Given the description of an element on the screen output the (x, y) to click on. 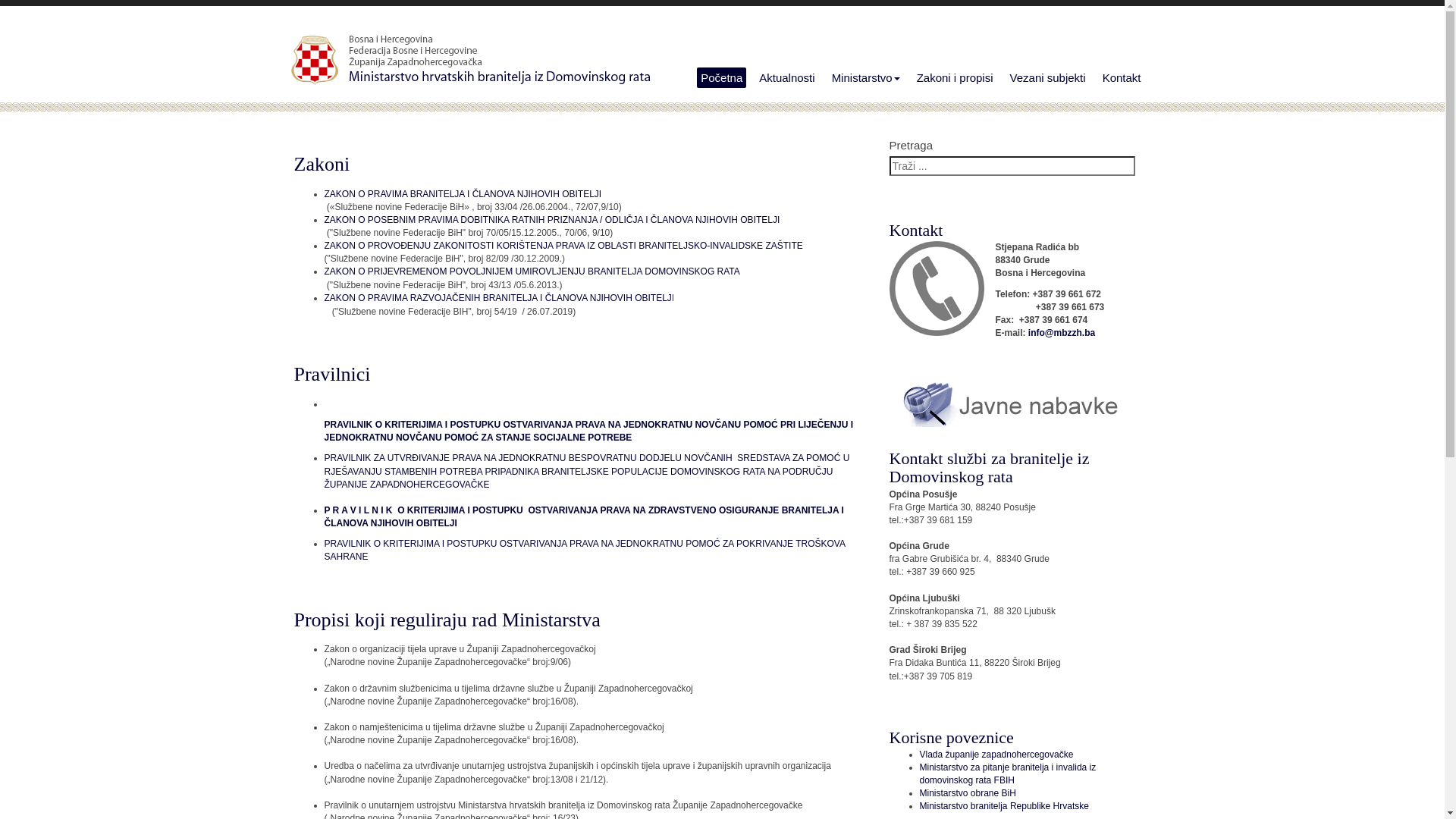
Kontakt Element type: text (1121, 77)
Ministarstvo branitelja Republike Hrvatske Element type: text (1003, 805)
Ministarstvo obrane BiH Element type: text (967, 792)
info@mbzzh.ba Element type: text (1061, 332)
Aktualnosti Element type: text (786, 77)
Zakoni i propisi Element type: text (955, 77)
  Element type: text (330, 310)
Vezani subjekti Element type: text (1047, 77)
Ministarstvo Element type: text (865, 77)
